Given the description of an element on the screen output the (x, y) to click on. 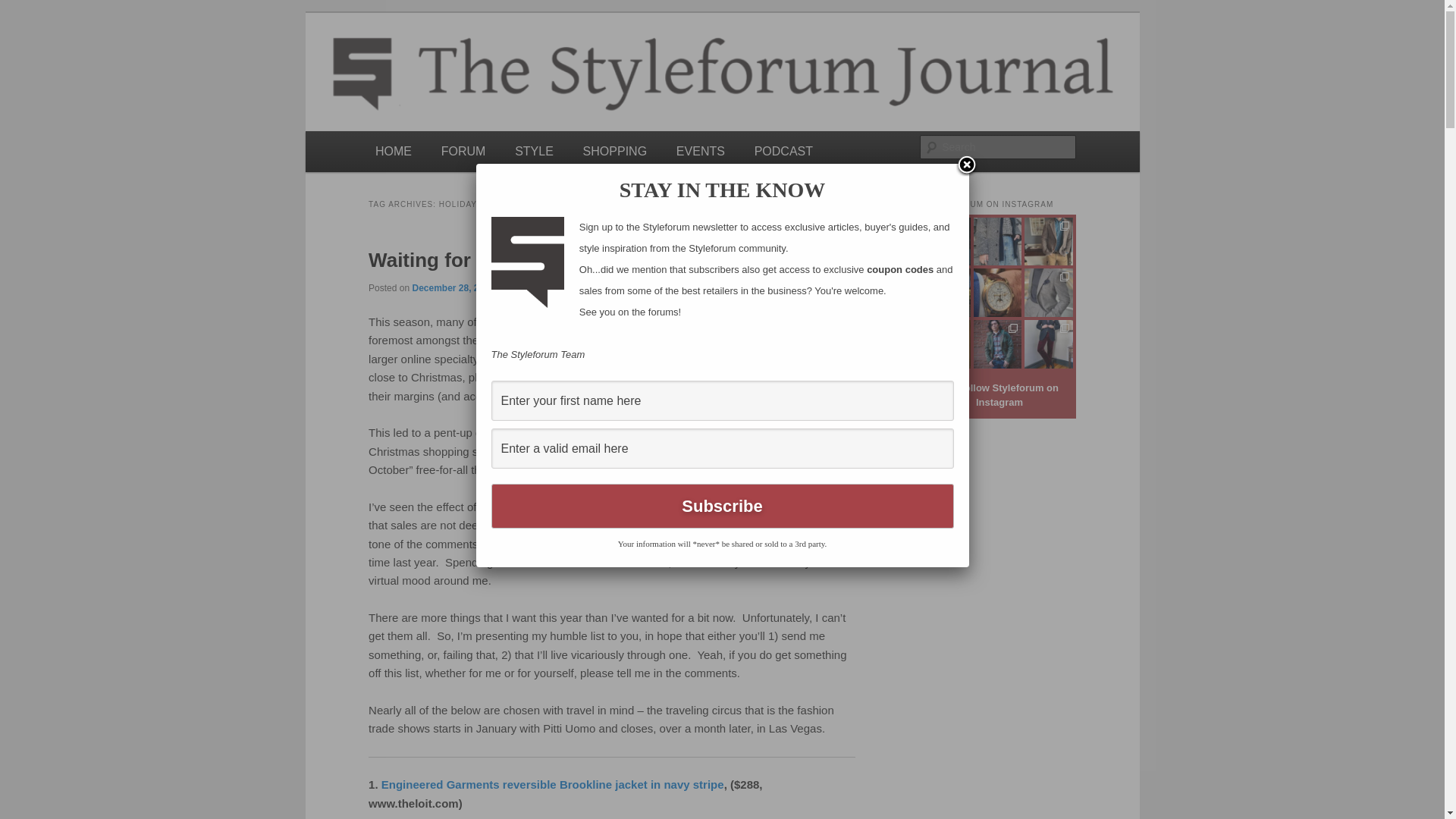
Fok-Yan Leung (540, 287)
Close (966, 165)
FORUM (462, 151)
PODCAST (783, 151)
SHOPPING (614, 151)
J.Crew (687, 321)
Ralph Lauren (804, 321)
Search (24, 8)
Subscribe (722, 506)
The Styleforum Journal (495, 67)
3:30 am (452, 287)
SSENSE (558, 358)
HOME (393, 151)
Barneys (692, 339)
EVENTS (700, 151)
